Given the description of an element on the screen output the (x, y) to click on. 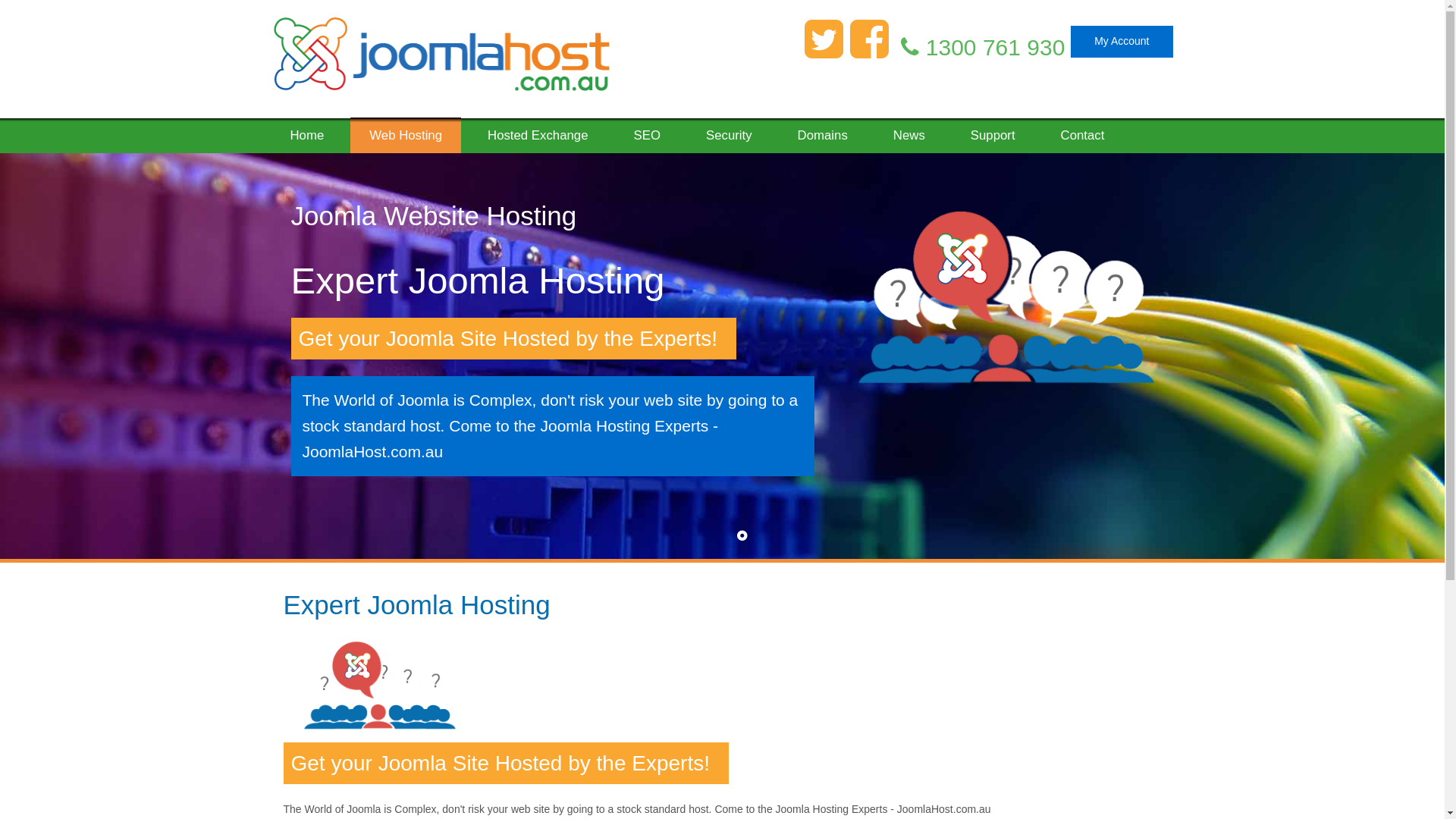
Support Element type: text (992, 130)
Security Element type: text (729, 130)
Joomla Website Hosting Element type: text (434, 215)
Hosted Exchange Element type: text (537, 130)
SEO Element type: text (647, 130)
Home Element type: text (307, 130)
Domains Element type: text (822, 130)
Contact Element type: text (1082, 130)
Web Hosting Element type: text (405, 135)
News Element type: text (909, 130)
My Account Element type: text (1121, 41)
